Given the description of an element on the screen output the (x, y) to click on. 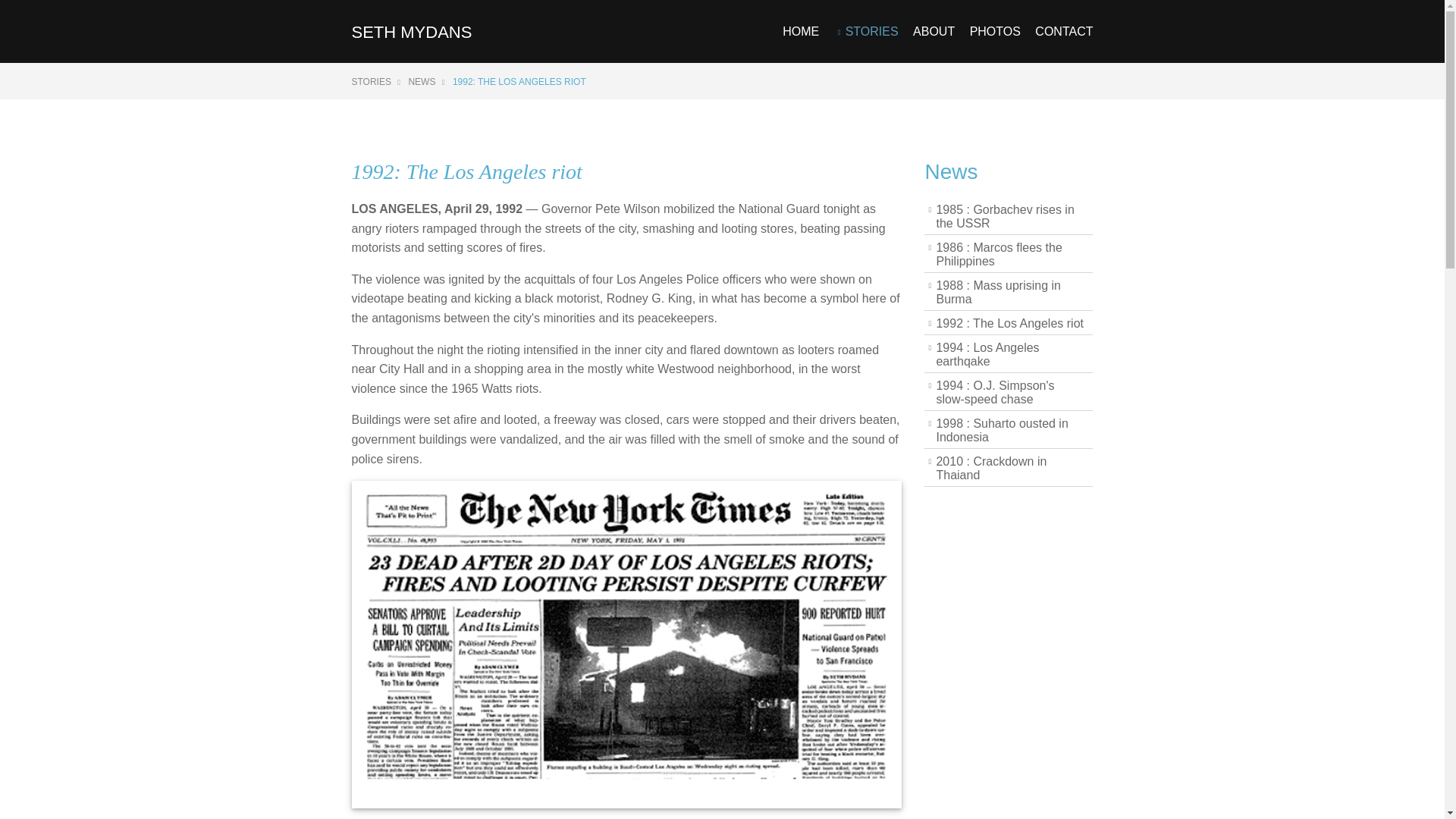
CONTACT (1064, 44)
STORIES (376, 81)
1994 : O.J. Simpson's slow-speed chase (1008, 393)
SETH MYDANS (411, 31)
News (950, 171)
1988 : Mass uprising in Burma (1008, 293)
1994 : Los Angeles earthqake (1008, 355)
1992: THE LOS ANGELES RIOT (519, 81)
STORIES (866, 44)
HOME (800, 44)
